Given the description of an element on the screen output the (x, y) to click on. 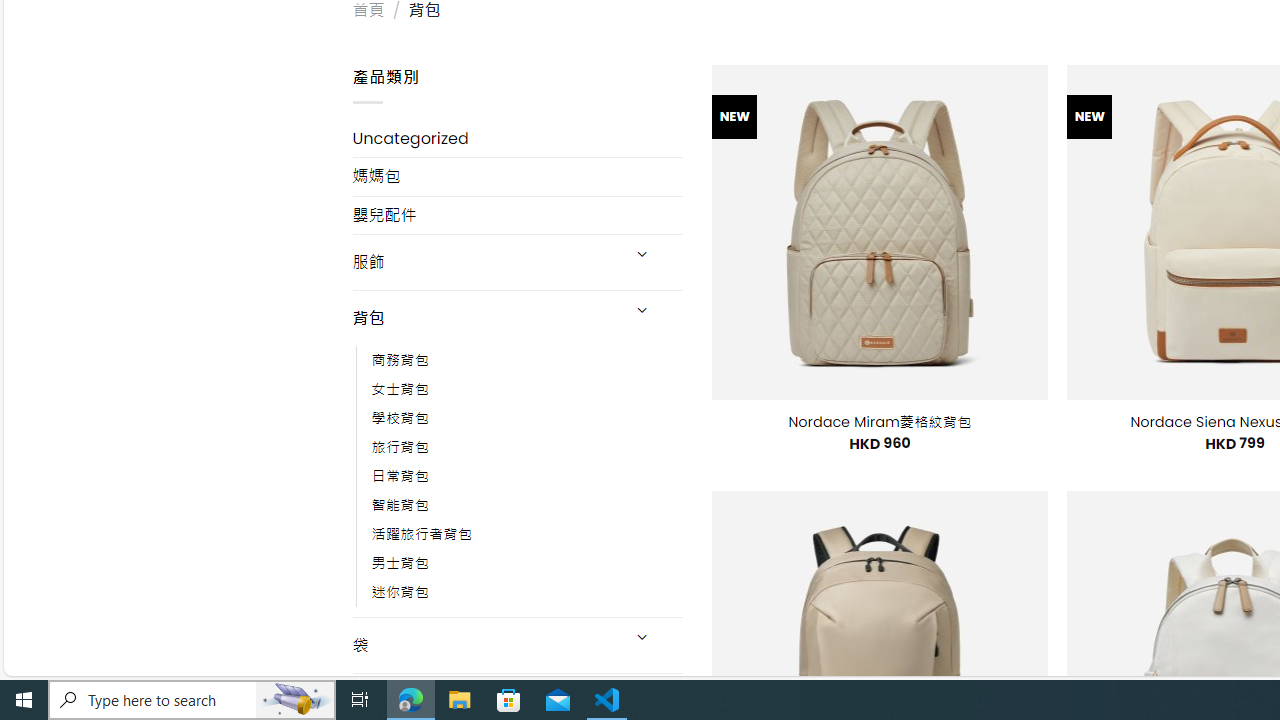
Uncategorized (517, 137)
